Given the description of an element on the screen output the (x, y) to click on. 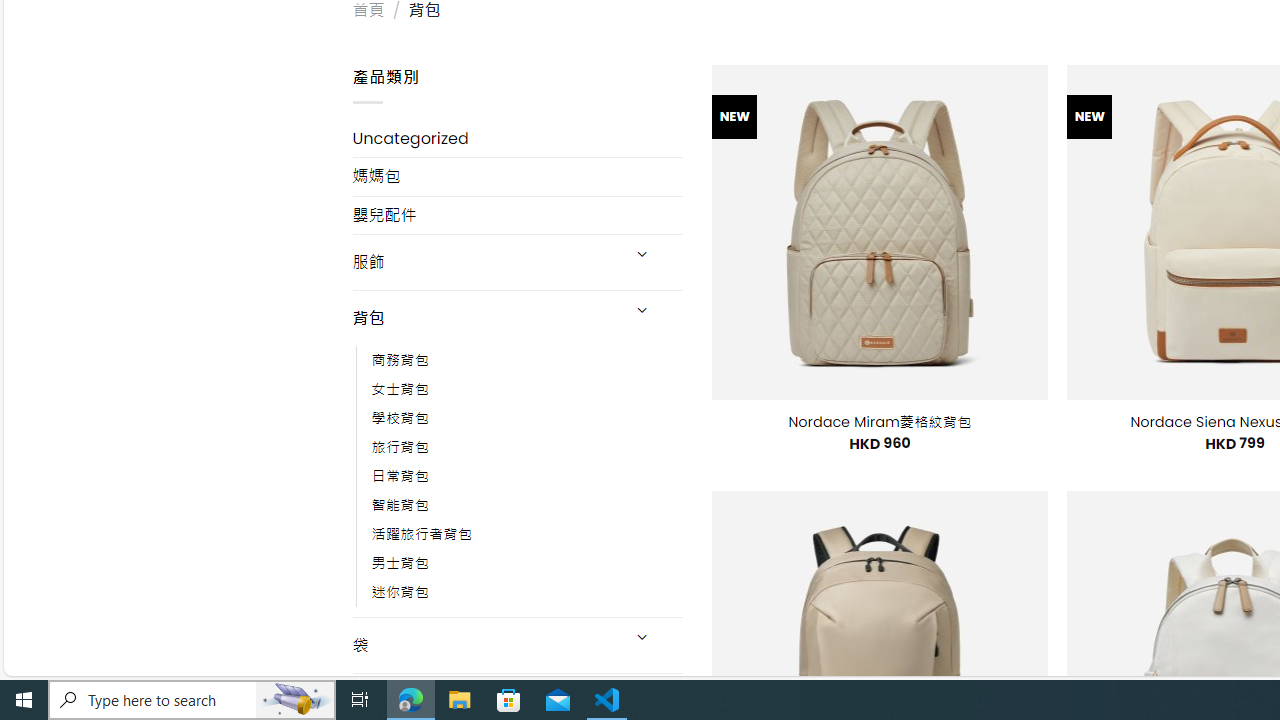
Uncategorized (517, 137)
